Given the description of an element on the screen output the (x, y) to click on. 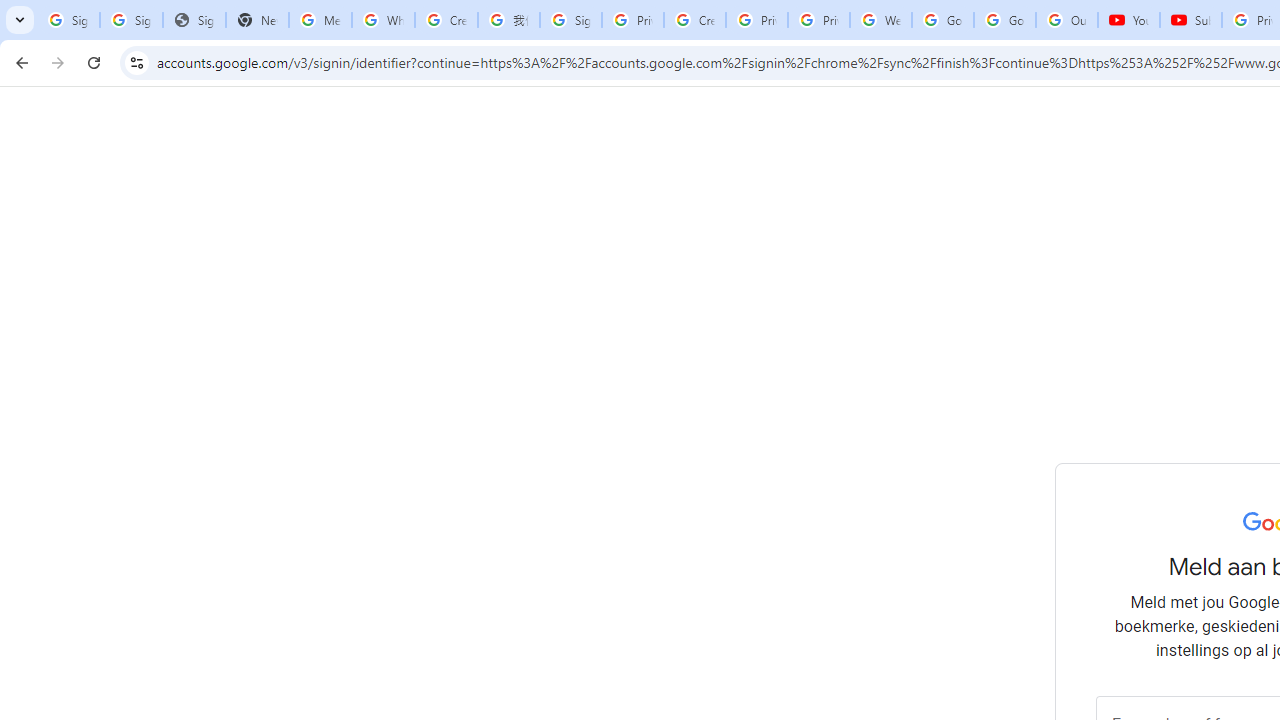
New Tab (257, 20)
YouTube (1128, 20)
Create your Google Account (445, 20)
Who is my administrator? - Google Account Help (383, 20)
Subscriptions - YouTube (1190, 20)
